Given the description of an element on the screen output the (x, y) to click on. 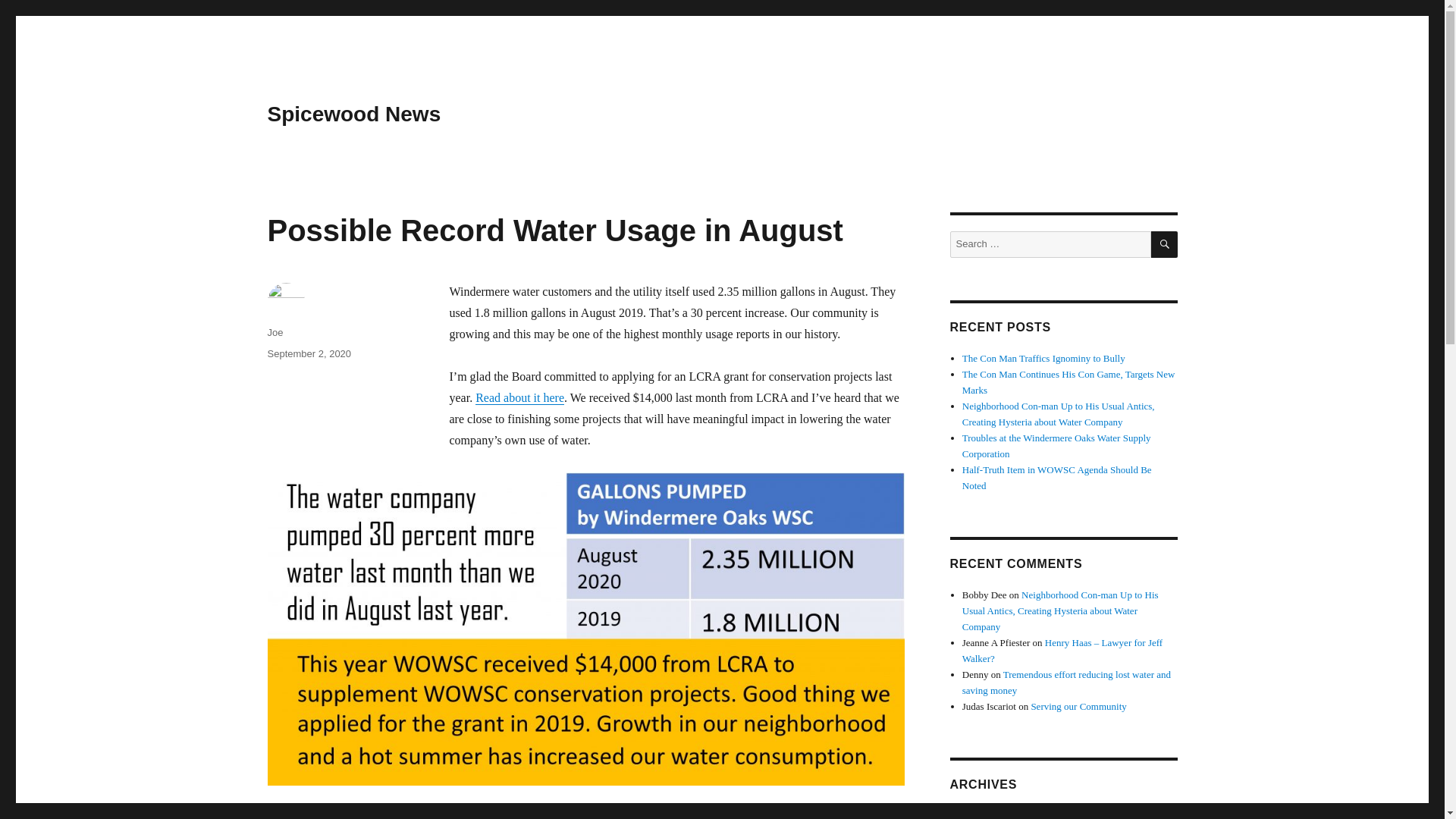
July 2024 (981, 814)
Read about it here (520, 397)
Tremendous effort reducing lost water and saving money (1066, 682)
Troubles at the Windermere Oaks Water Supply Corporation (1056, 445)
Joe (274, 332)
The Con Man Continues His Con Game, Targets New Marks (1068, 381)
Spicewood News (353, 114)
September 2, 2020 (308, 353)
Half-Truth Item in WOWSC Agenda Should Be Noted (1056, 477)
